Given the description of an element on the screen output the (x, y) to click on. 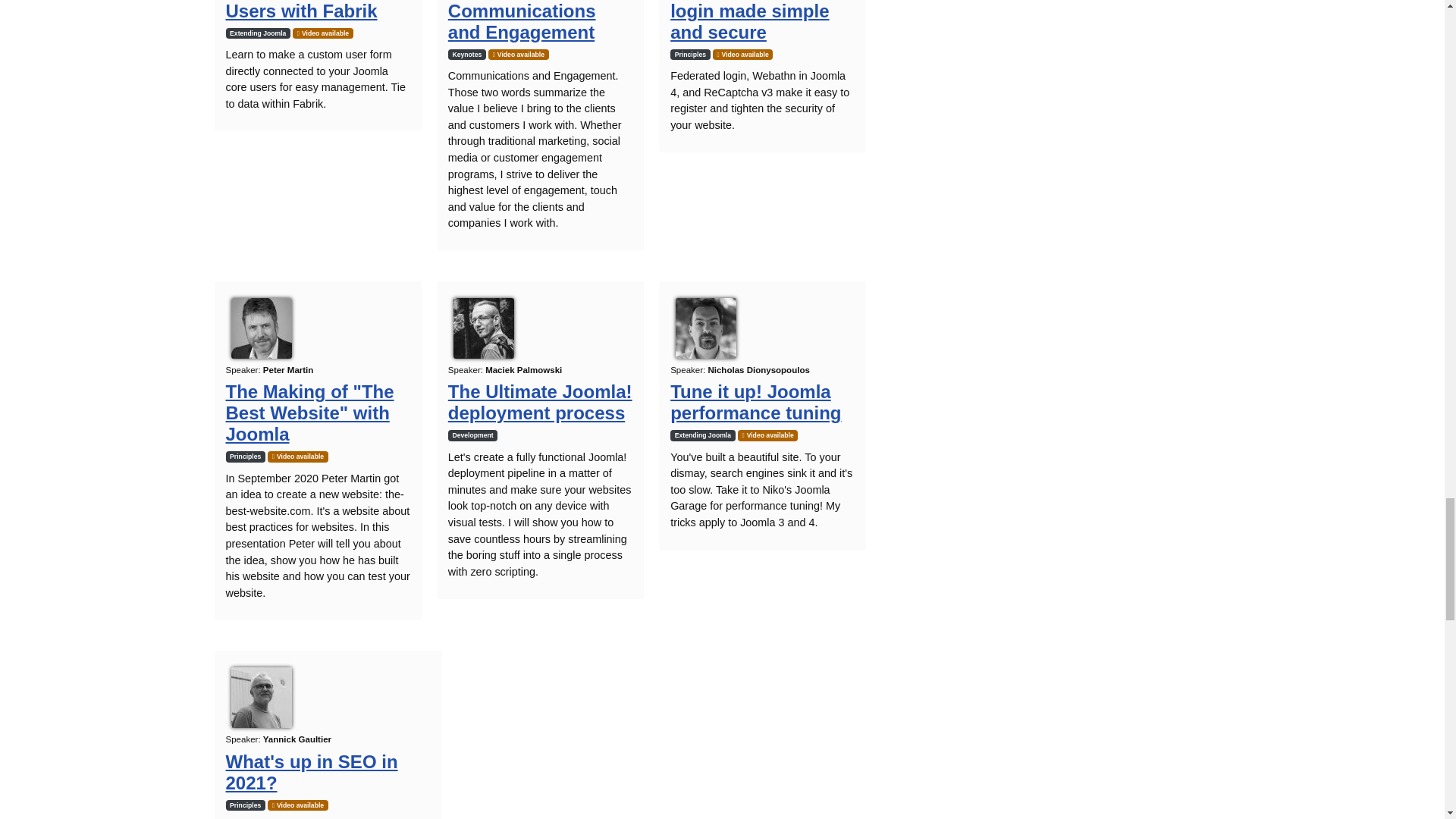
Managing Joomla Users with Fabrik (302, 10)
